Given the description of an element on the screen output the (x, y) to click on. 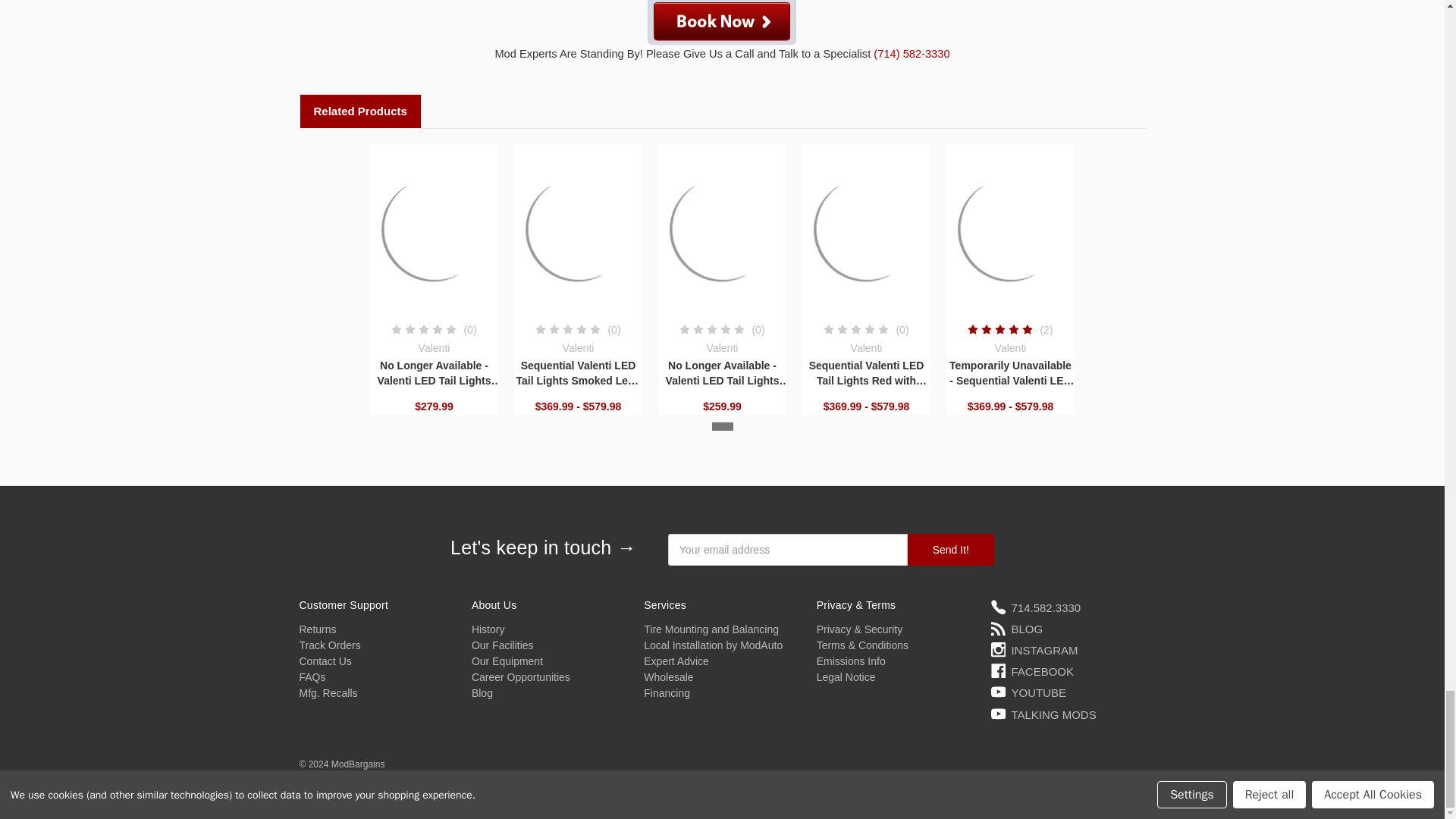
Send It! (950, 549)
